Given the description of an element on the screen output the (x, y) to click on. 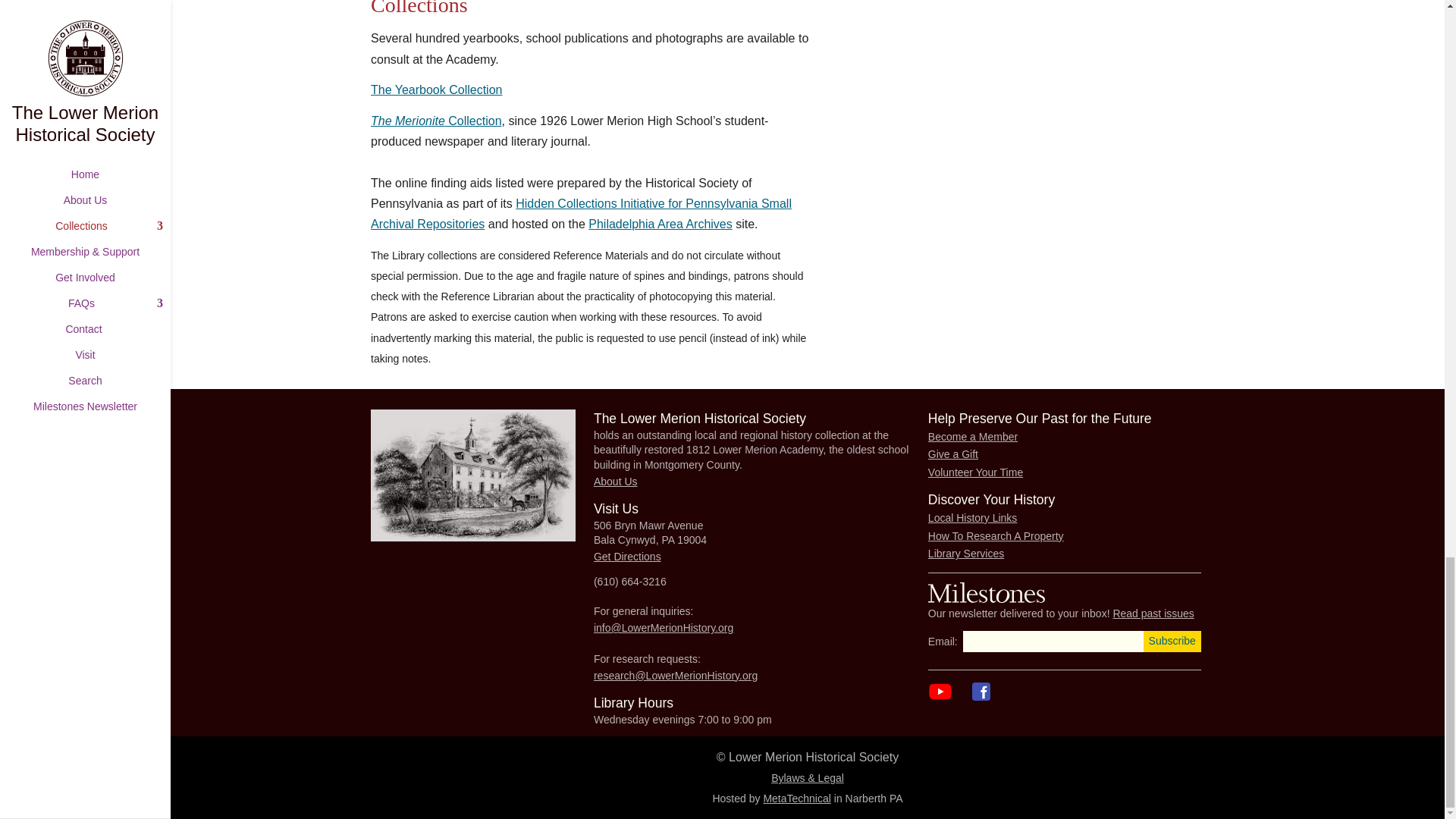
The Merionite Collection (436, 120)
The Yearbook Collection (436, 89)
